Given the description of an element on the screen output the (x, y) to click on. 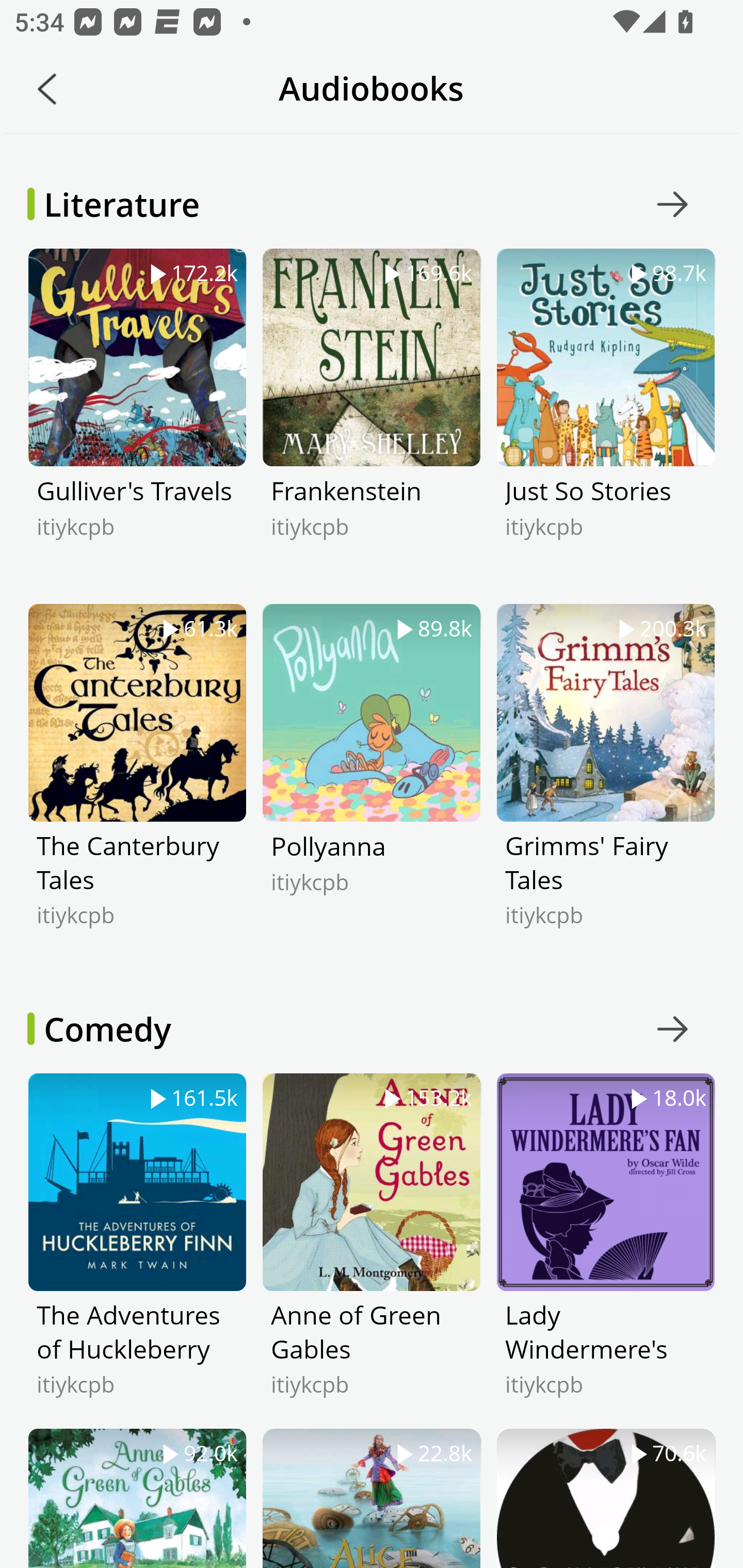
Back (46, 88)
172.2k Gulliver's Travels itiykcpb (137, 425)
169.6k Frankenstein itiykcpb (371, 425)
98.7k Just So Stories itiykcpb (605, 425)
61.3k The Canterbury Tales itiykcpb (137, 780)
89.8k Pollyanna itiykcpb (371, 780)
200.3k Grimms' Fairy Tales itiykcpb (605, 780)
161.5k The Adventures of Huckleberry Finn itiykcpb (137, 1250)
153.2k Anne of Green Gables itiykcpb (371, 1250)
18.0k Lady Windermere's Fan itiykcpb (605, 1250)
92.0k (137, 1498)
22.8k (371, 1498)
70.6k (605, 1498)
